Given the description of an element on the screen output the (x, y) to click on. 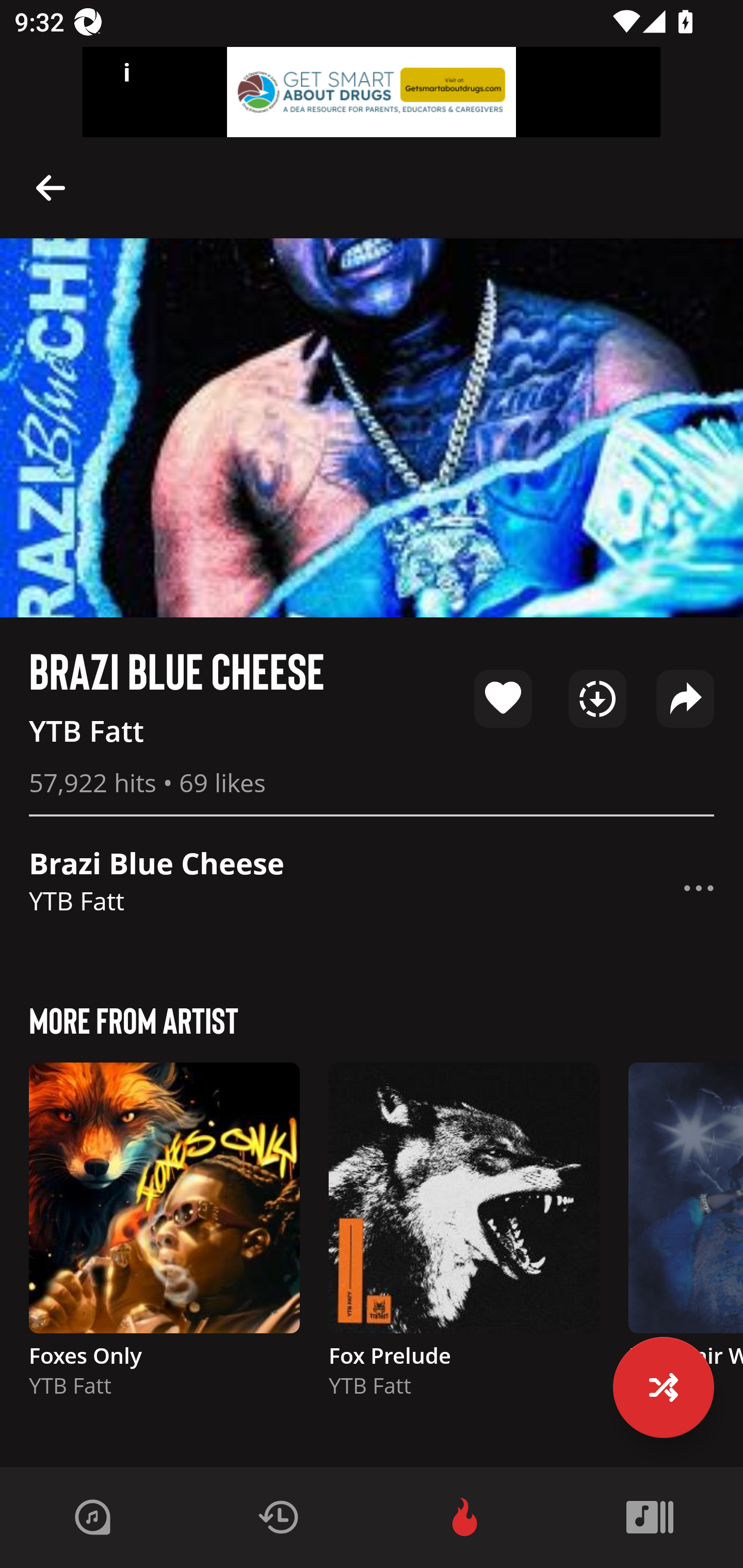
Description (50, 187)
Brazi Blue Cheese YTB Fatt Description (371, 888)
Description (698, 888)
Description Foxes Only YTB Fatt (164, 1238)
Description Fox Prelude YTB Fatt (463, 1238)
